Given the description of an element on the screen output the (x, y) to click on. 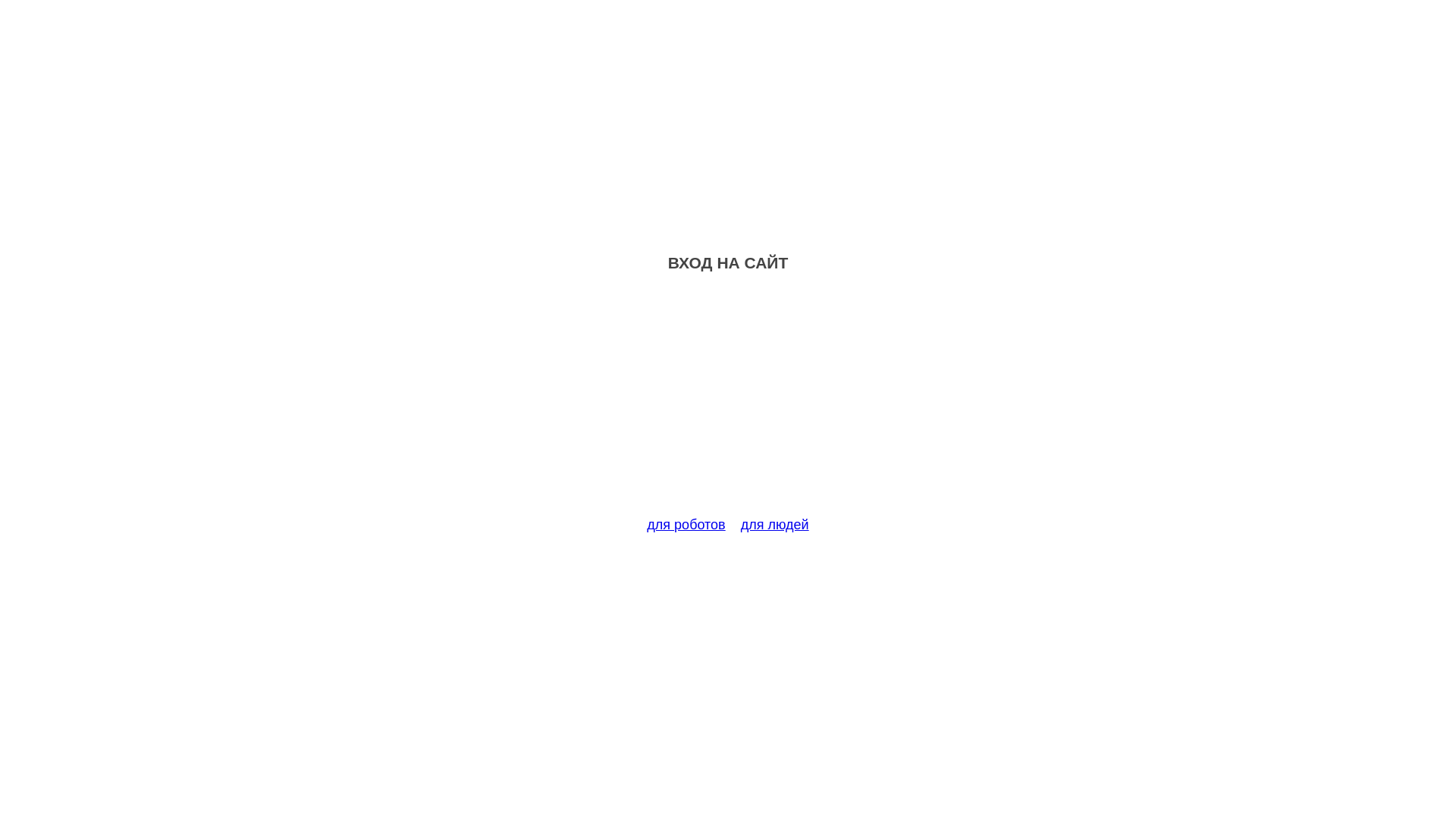
Advertisement Element type: hover (727, 403)
